Given the description of an element on the screen output the (x, y) to click on. 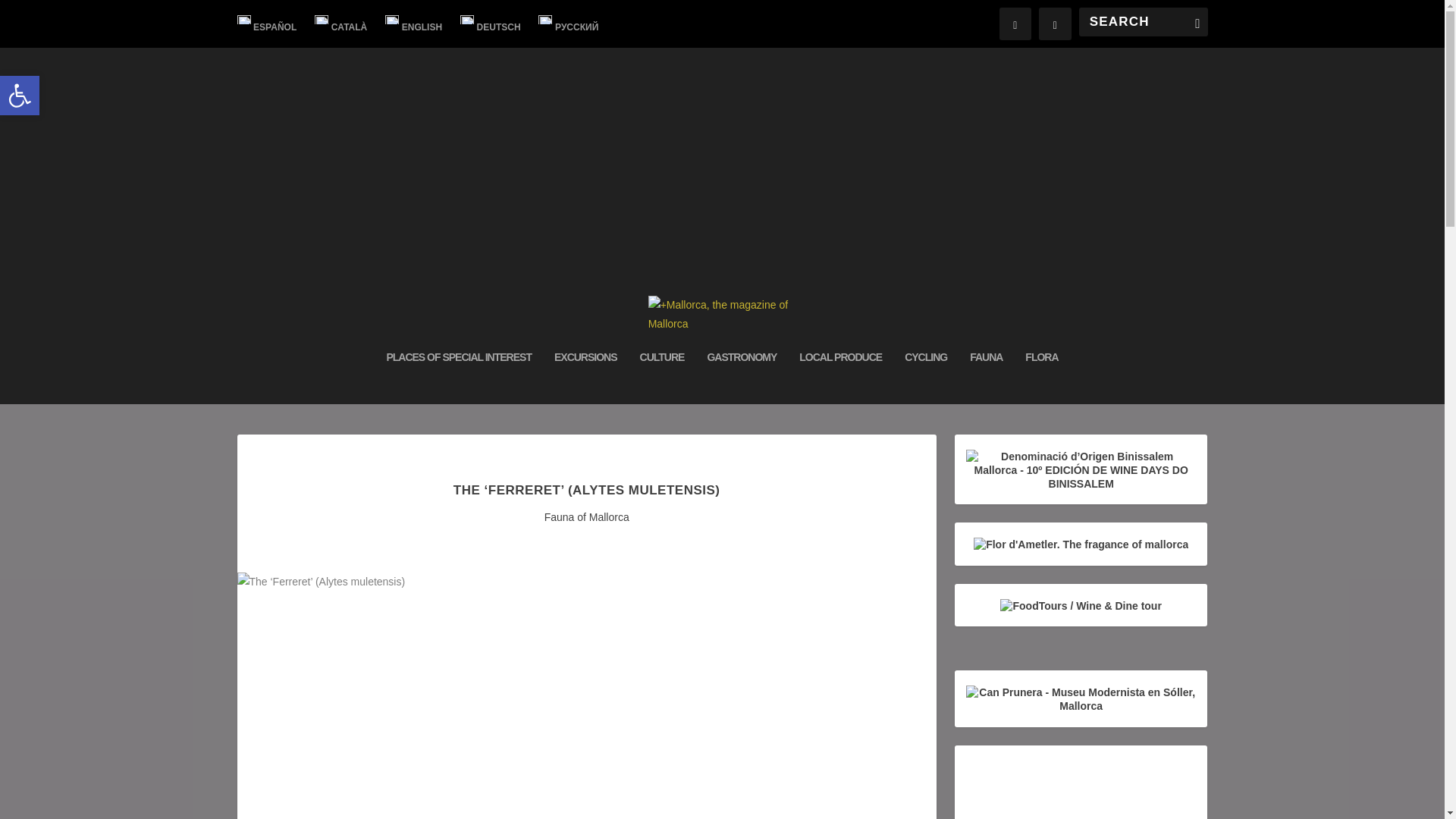
English (413, 23)
Fauna of Mallorca (586, 517)
DEUTSCH (490, 23)
EXCURSIONS (585, 376)
LOCAL PRODUCE (840, 376)
Search for: (1142, 21)
GASTRONOMY (741, 376)
Deutsch (490, 23)
PLACES OF SPECIAL INTEREST (458, 376)
ENGLISH (413, 23)
